Given the description of an element on the screen output the (x, y) to click on. 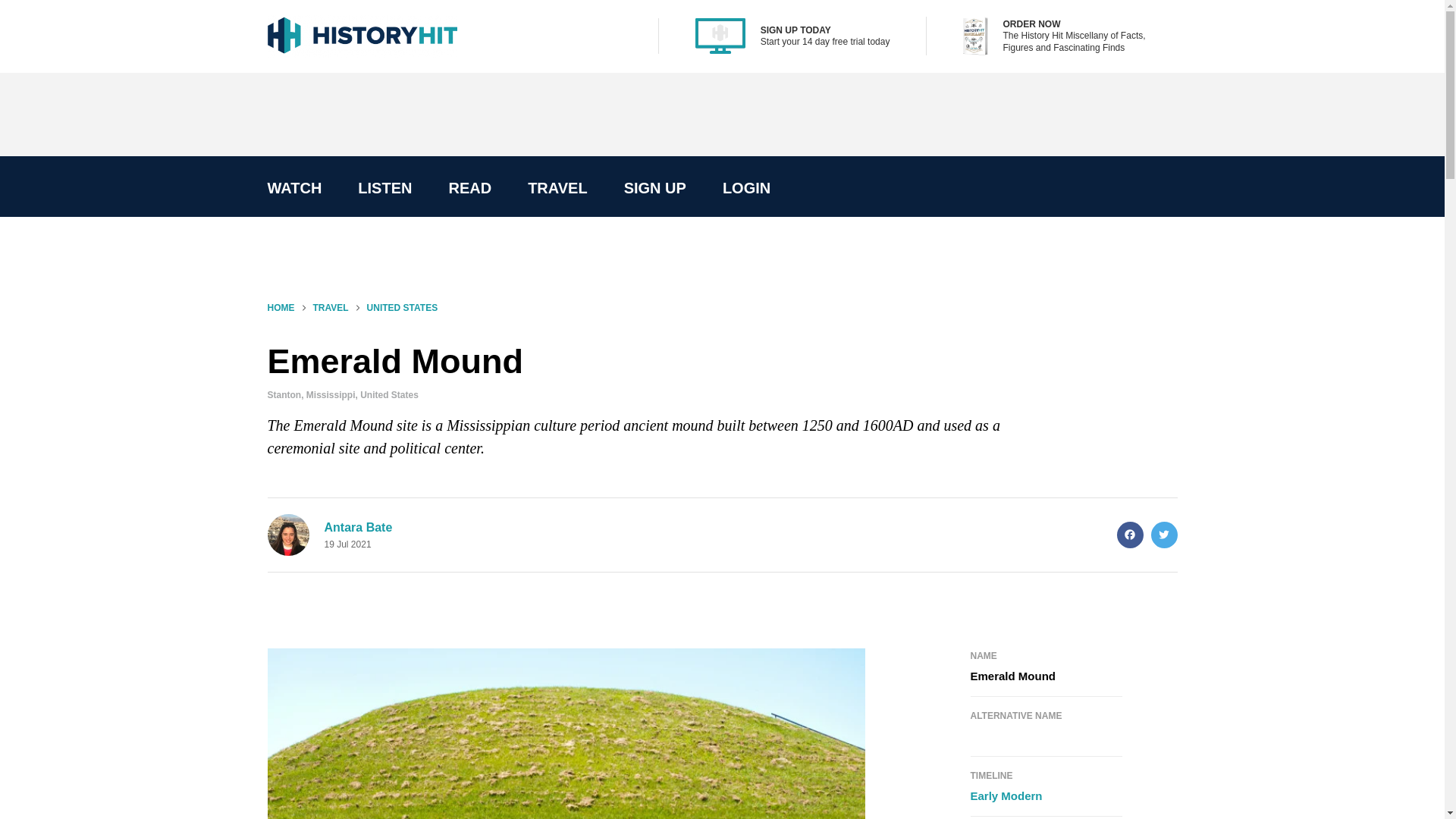
ORDER NOW (1031, 23)
WATCH (293, 187)
Start your 14 day free trial today (824, 41)
SIGN UP TODAY (795, 30)
